Given the description of an element on the screen output the (x, y) to click on. 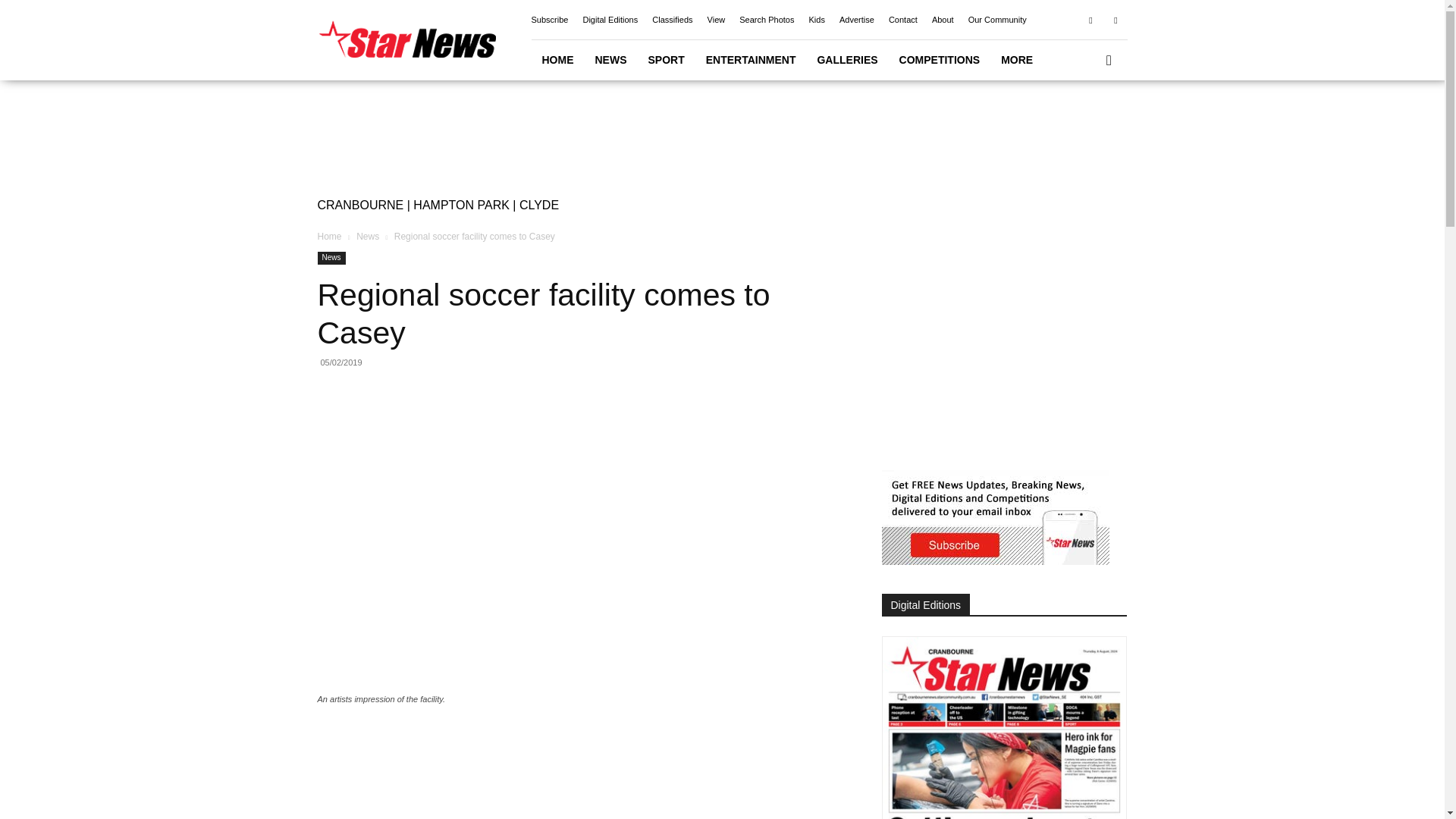
Classifieds (672, 19)
About (942, 19)
Twitter (1114, 19)
View all posts in News (367, 235)
Digital Editions (609, 19)
Contact (902, 19)
Facebook (1090, 19)
Subscribe (549, 19)
Kids (816, 19)
View (716, 19)
